Given the description of an element on the screen output the (x, y) to click on. 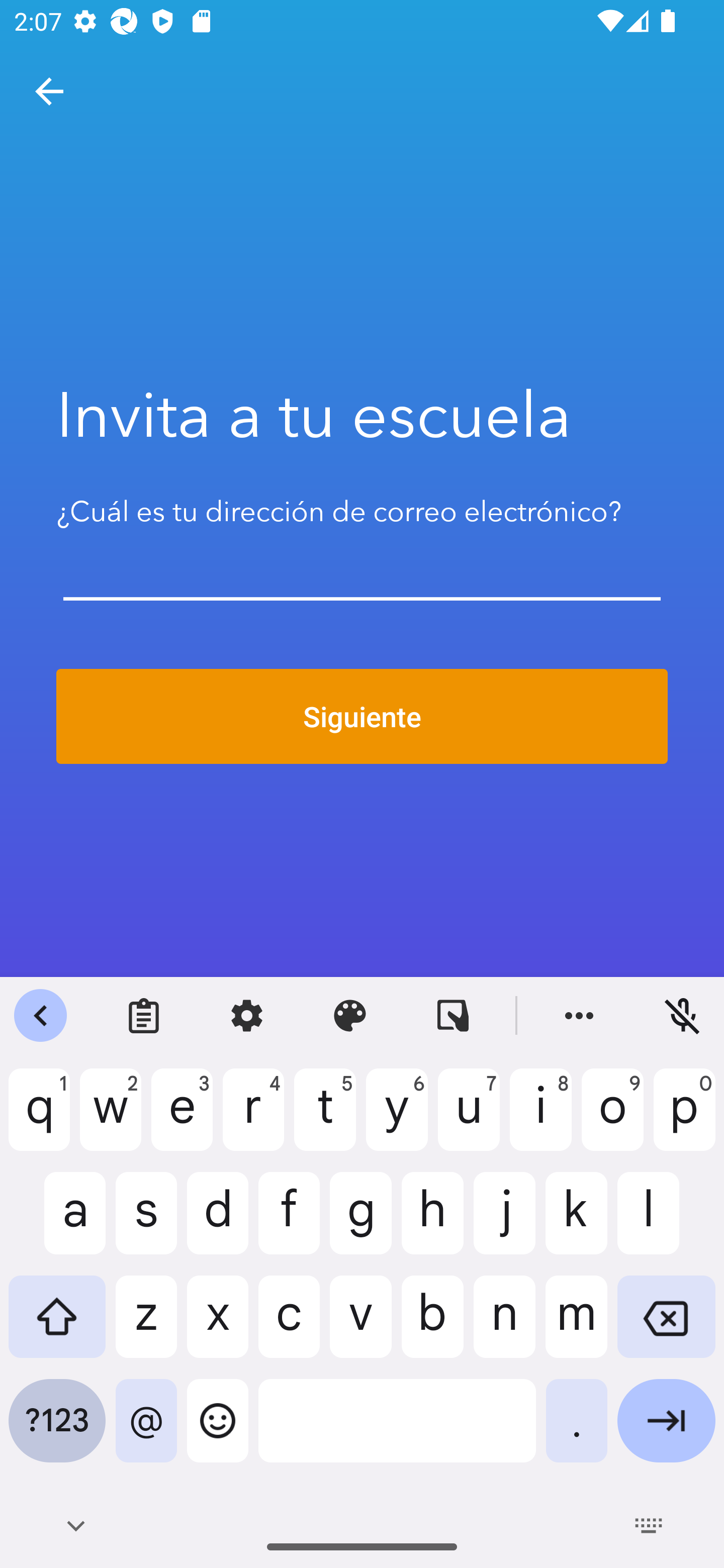
Navegar hacia arriba (49, 91)
Siguiente (361, 716)
